Given the description of an element on the screen output the (x, y) to click on. 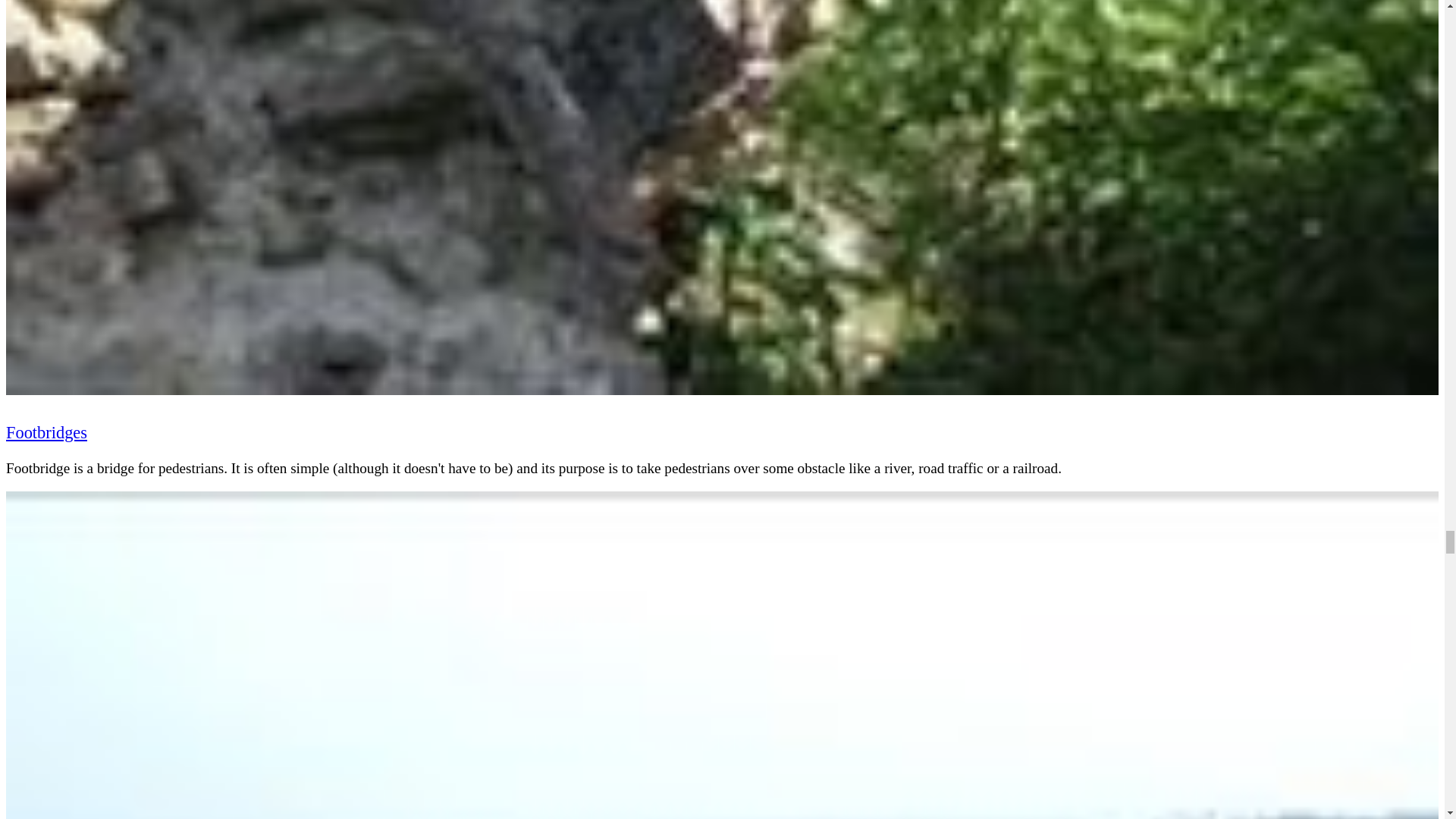
Footbridges (46, 432)
